Given the description of an element on the screen output the (x, y) to click on. 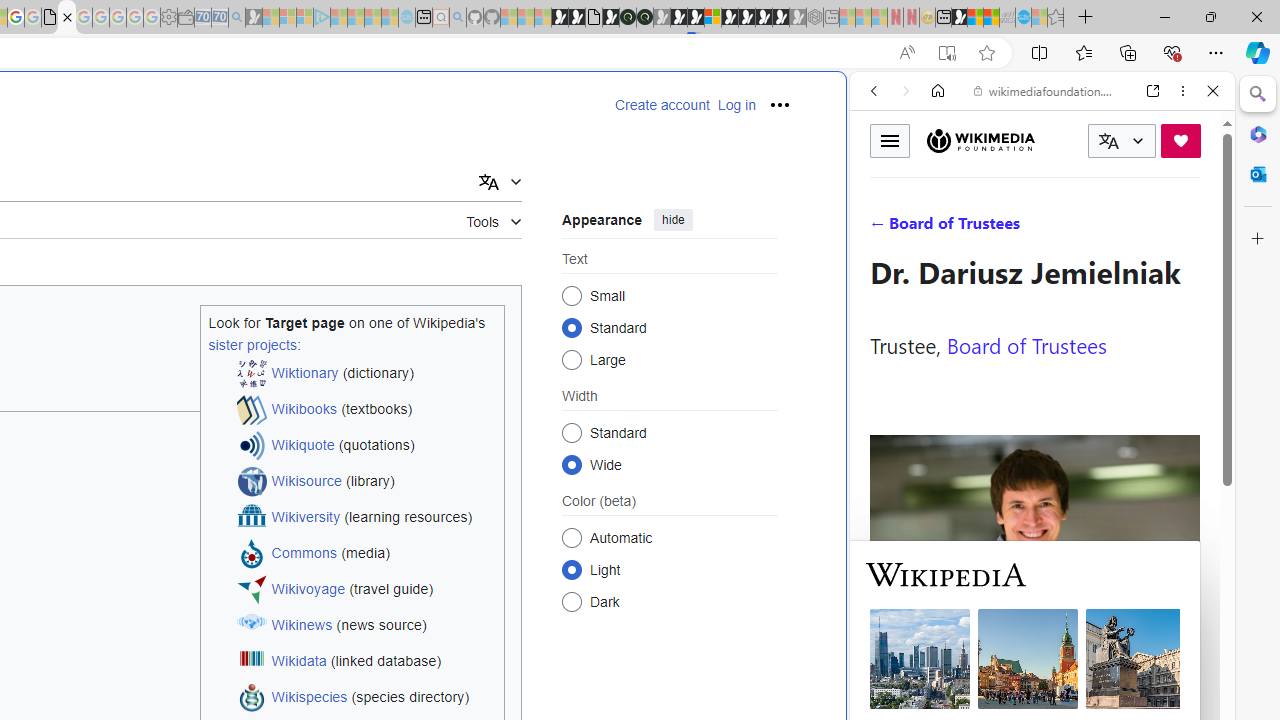
Wikivoyage (308, 589)
Wikidata (linked database) (366, 662)
Wikiquote (303, 445)
sister projects (252, 344)
Wikinews (news source) (366, 626)
google_privacy_policy_zh-CN.pdf (49, 17)
Wikiversity (learning resources) (366, 518)
Earth has six continents not seven, radical new study claims (991, 17)
IMAGES (939, 228)
Standard (571, 431)
Favorites - Sleeping (1055, 17)
Class: i icon icon-translate language-switcher__icon (1108, 141)
Wikispecies (species directory) (366, 698)
